Given the description of an element on the screen output the (x, y) to click on. 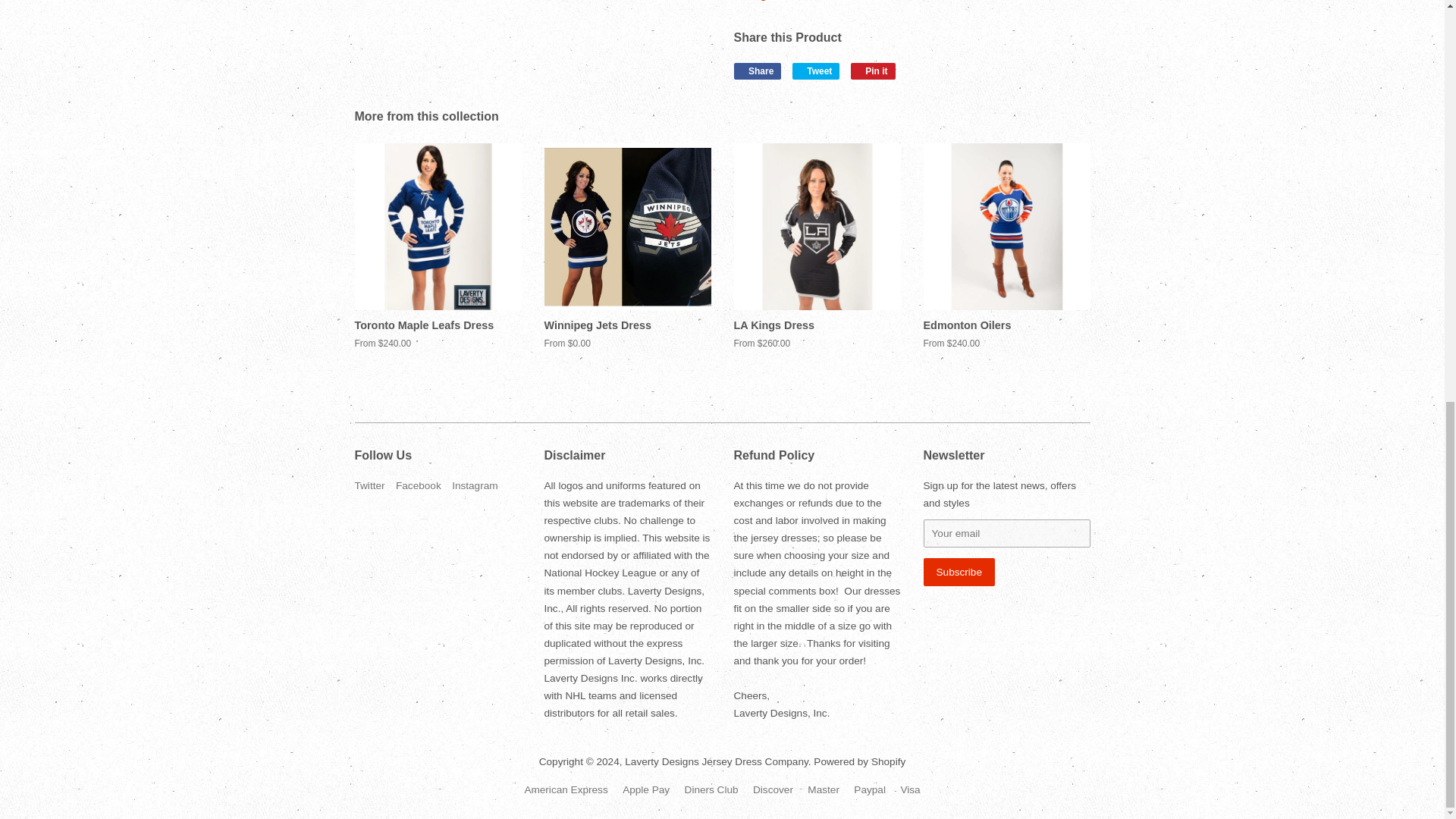
Pin on Pinterest (872, 71)
Twitter (370, 485)
Laverty Designs Jersey Dress Company on Facebook (418, 485)
Sizing Chart (816, 71)
Laverty Designs Jersey Dress Company on Twitter (766, 0)
Tweet on Twitter (370, 485)
Subscribe (816, 71)
Laverty Designs Jersey Dress Company on Instagram (958, 571)
Facebook (474, 485)
Share on Facebook (418, 485)
